Given the description of an element on the screen output the (x, y) to click on. 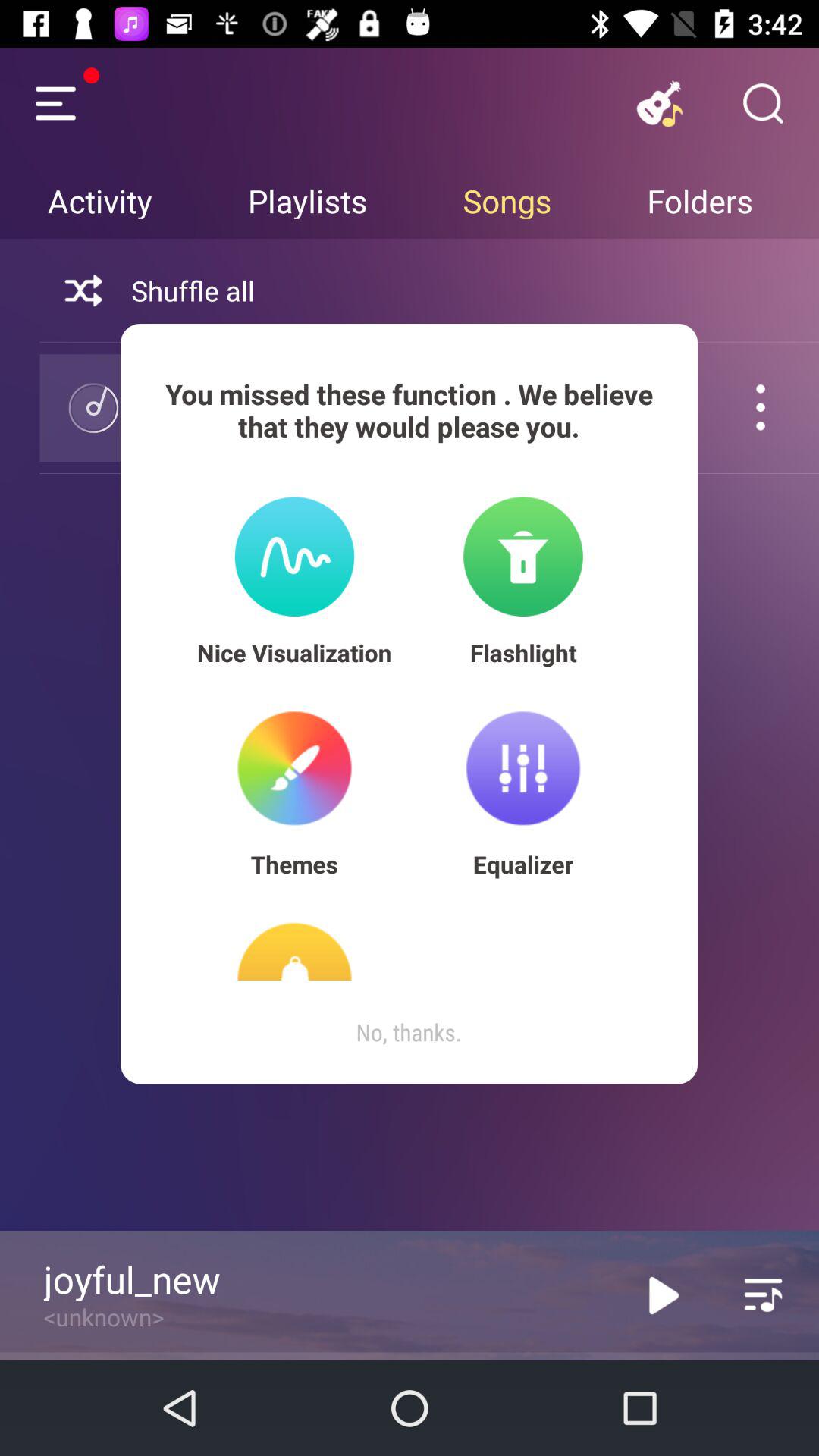
scroll until equalizer item (523, 864)
